Given the description of an element on the screen output the (x, y) to click on. 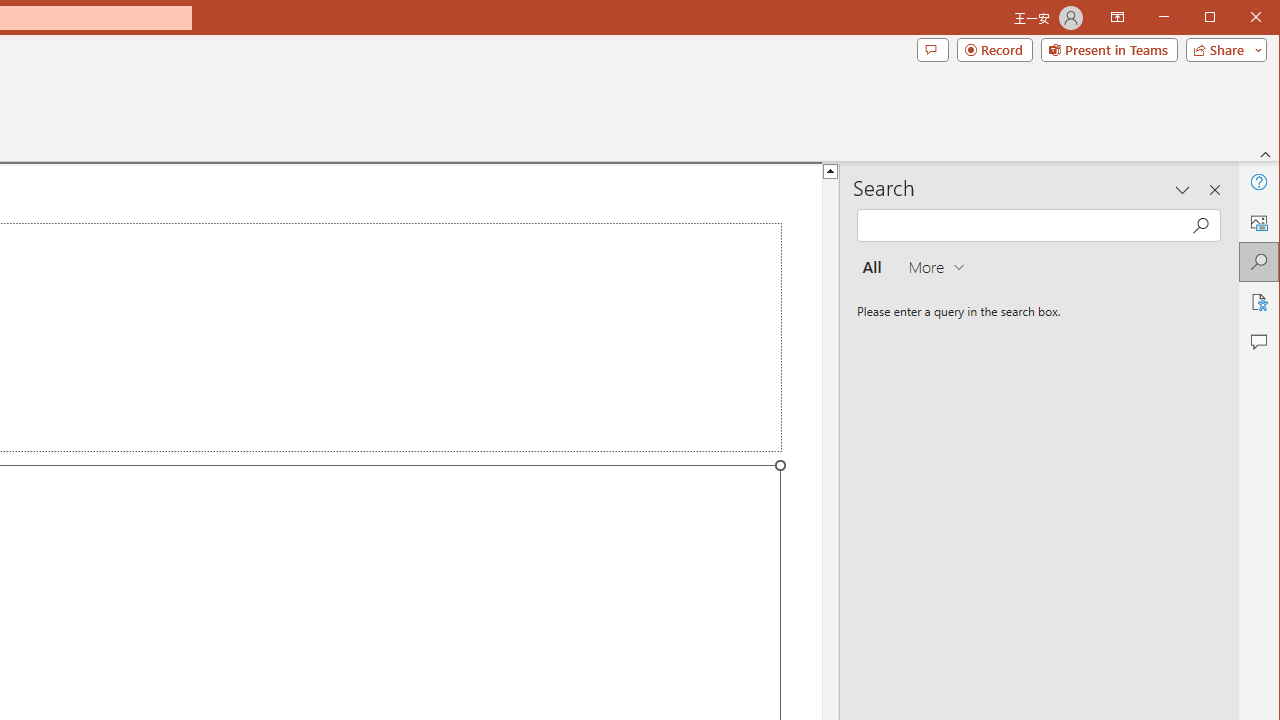
Present in Teams (1108, 49)
